Given the description of an element on the screen output the (x, y) to click on. 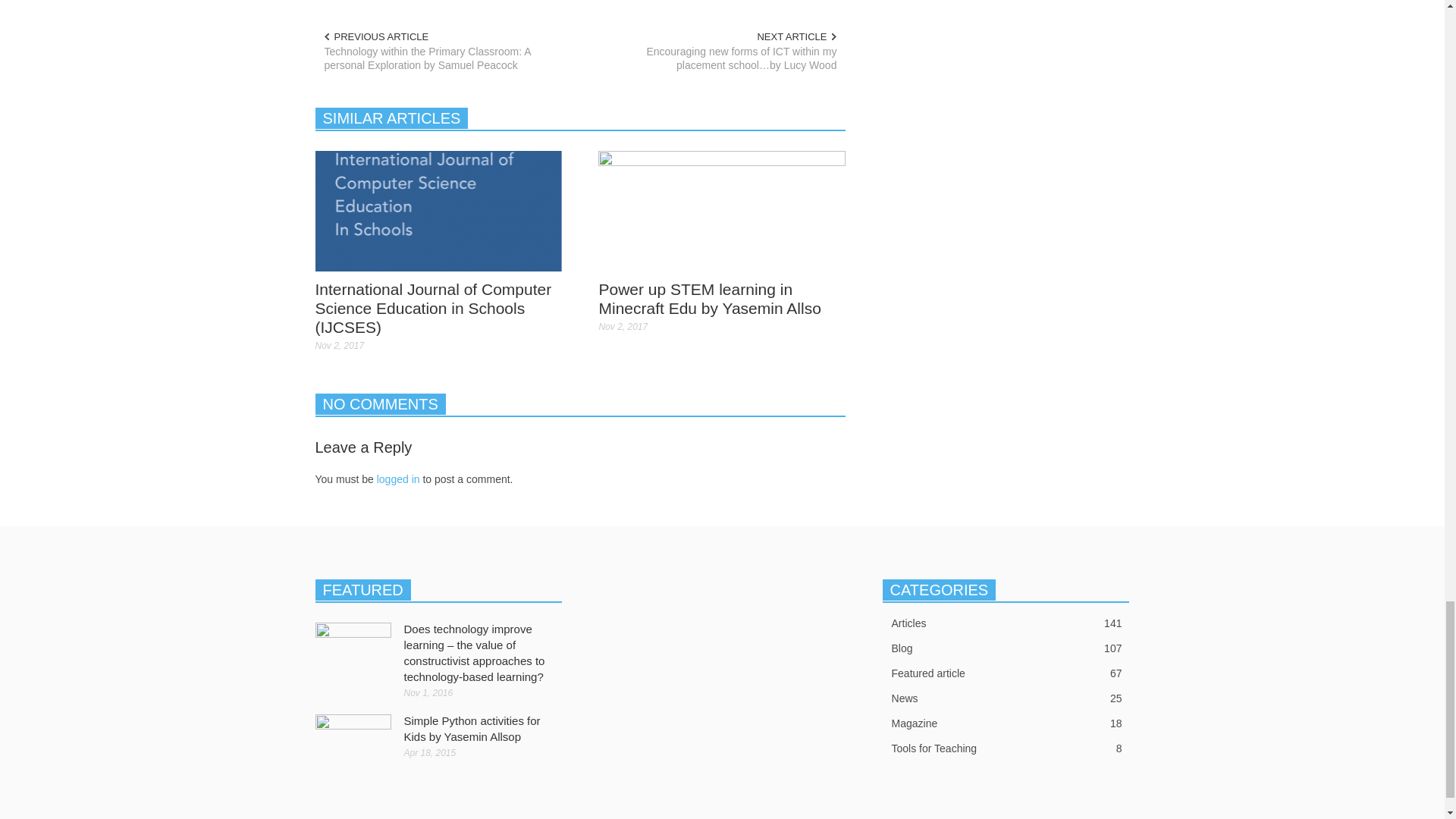
Power up STEM learning in Minecraft Edu  by Yasemin Allso (709, 298)
Power up STEM learning in Minecraft Edu by Yasemin Allso (709, 298)
Power up STEM learning in Minecraft Edu  by Yasemin Allso (721, 210)
Power up STEM learning in Minecraft Edu  by Yasemin Allso (721, 209)
